Given the description of an element on the screen output the (x, y) to click on. 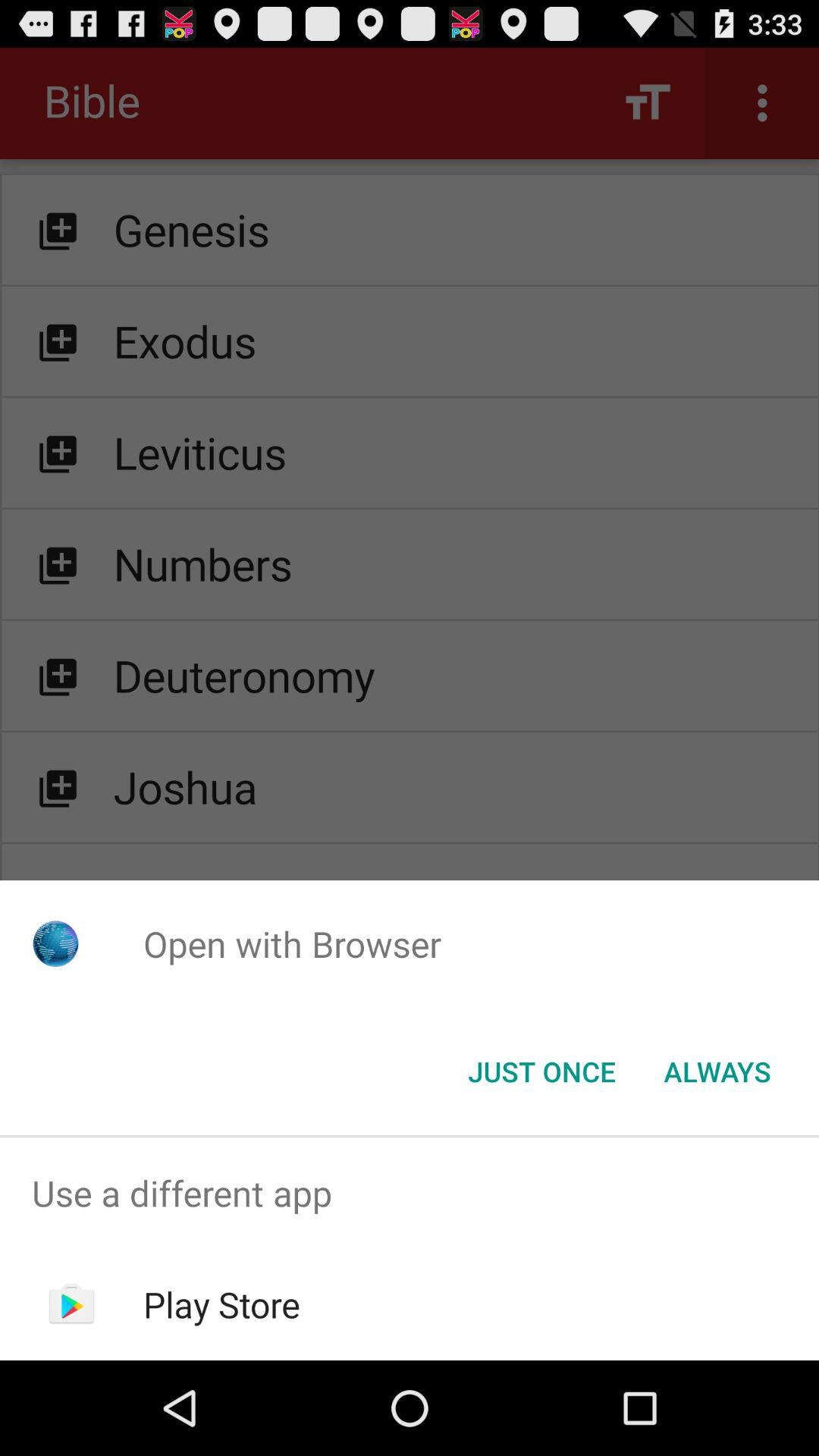
flip until always button (717, 1071)
